Given the description of an element on the screen output the (x, y) to click on. 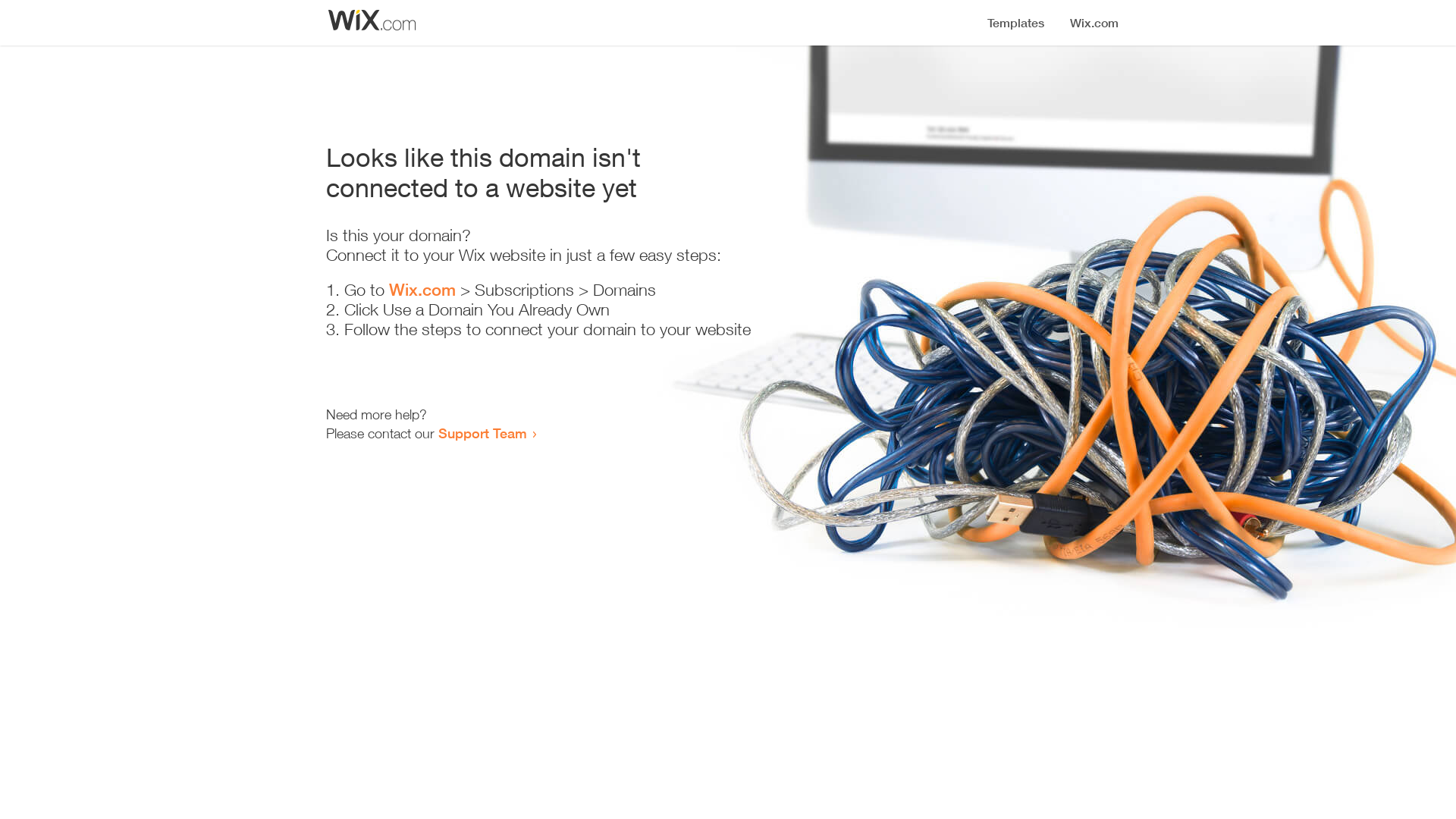
Support Team Element type: text (482, 432)
Wix.com Element type: text (422, 289)
